Given the description of an element on the screen output the (x, y) to click on. 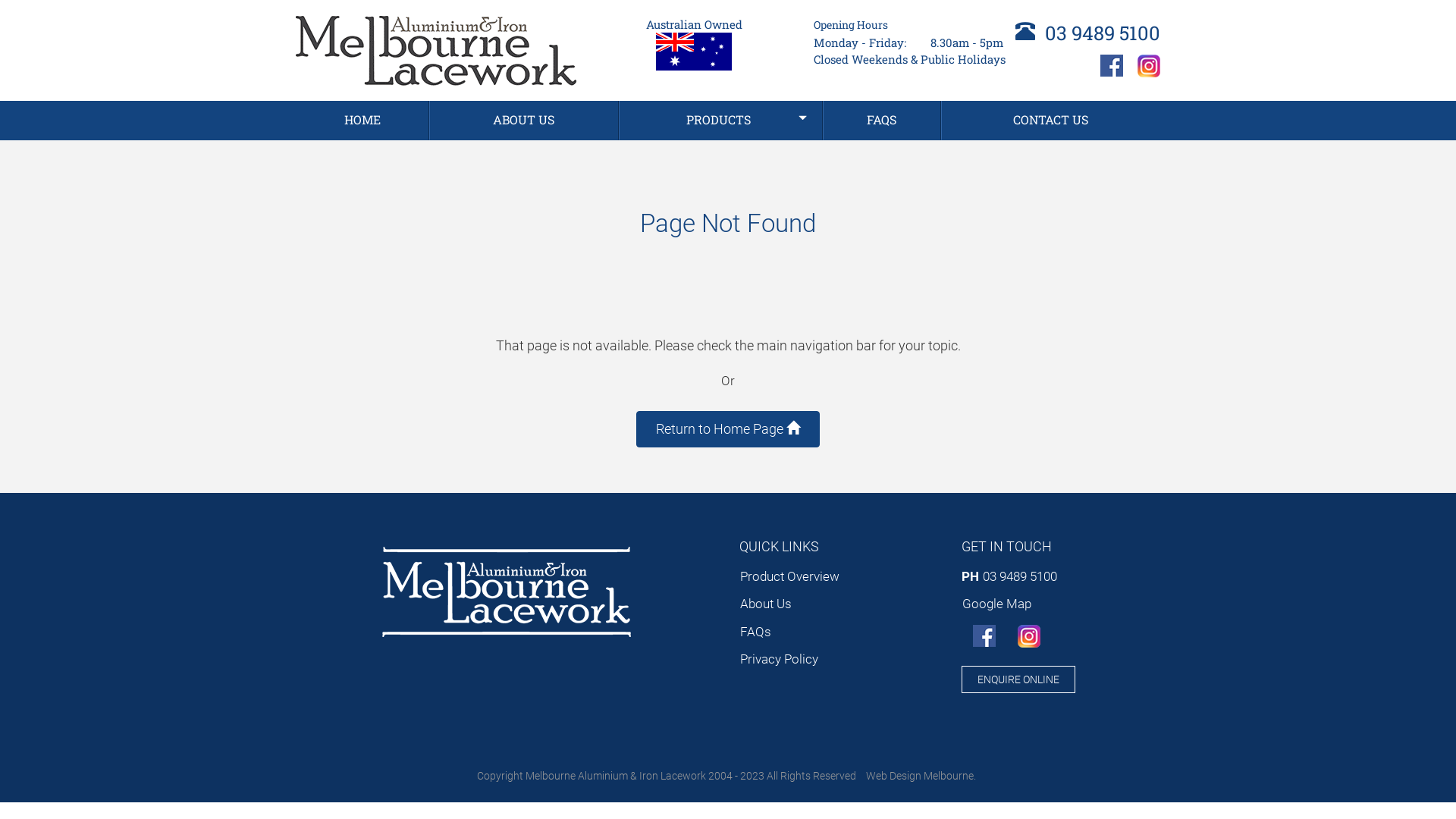
Product Overview Element type: text (801, 576)
Web Design Melbourne Element type: text (919, 775)
ENQUIRE ONLINE Element type: text (1018, 679)
About Us Element type: text (801, 604)
Google Map Element type: text (1061, 604)
PRODUCTS Element type: text (720, 119)
HOME Element type: text (362, 119)
Return to Home Page Element type: text (727, 429)
Privacy Policy Element type: text (801, 659)
03 9489 5100 Element type: text (1019, 576)
FAQs Element type: text (801, 632)
Instagram Element type: text (1028, 635)
Facebook Element type: text (1111, 65)
CONTACT US Element type: text (1050, 119)
FAQS Element type: text (881, 119)
Instagram Element type: text (1148, 65)
ABOUT US Element type: text (523, 119)
03 9489 5100 Element type: text (1087, 32)
Facebook Element type: text (983, 635)
